Given the description of an element on the screen output the (x, y) to click on. 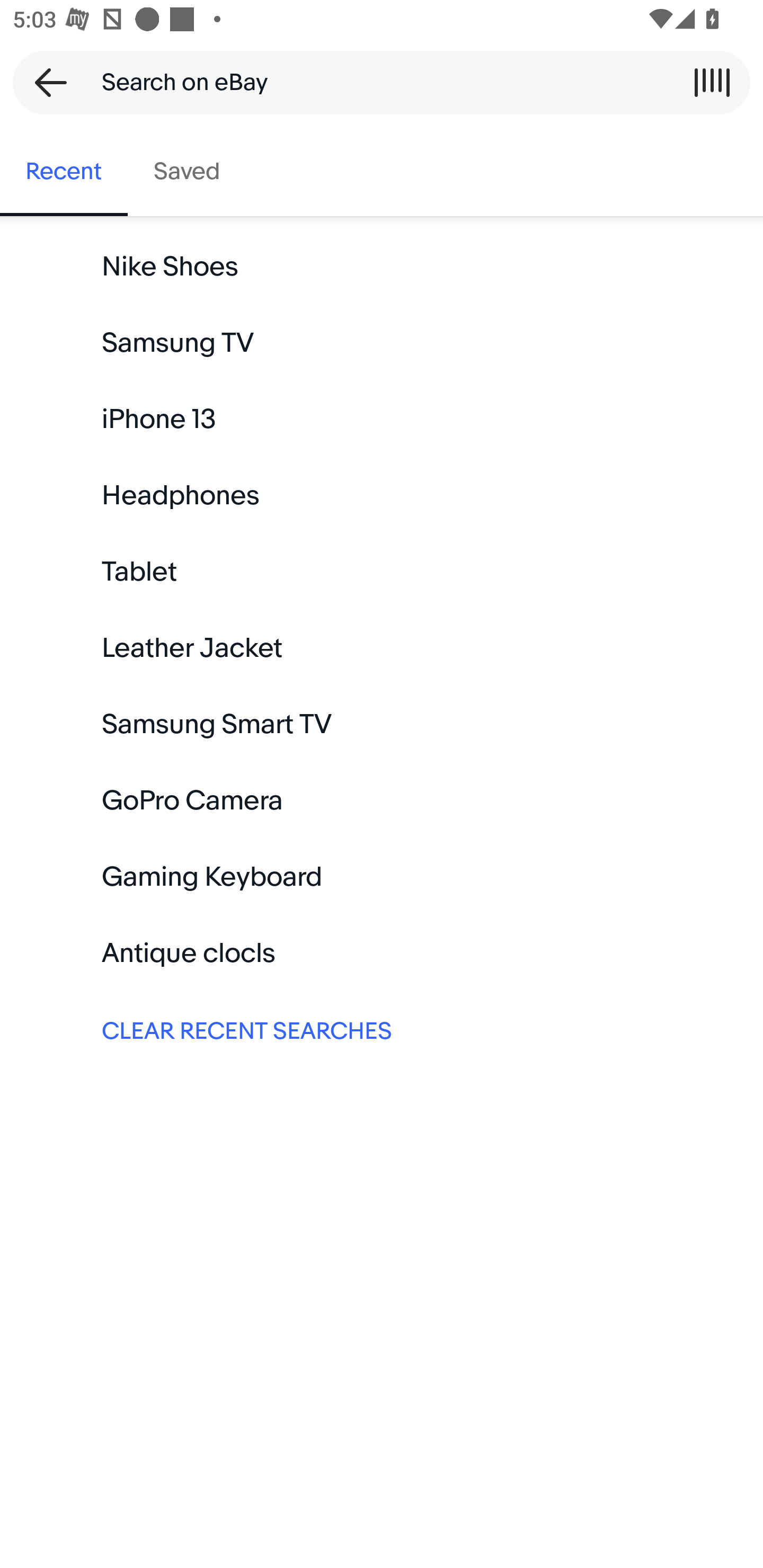
Back (44, 82)
Scan a barcode (711, 82)
Search on eBay (375, 82)
Saved, tab 2 of 2 Saved (186, 171)
Nike Shoes Keyword search Nike Shoes: (381, 266)
Samsung TV Keyword search Samsung TV: (381, 343)
iPhone 13 Keyword search iPhone 13: (381, 419)
Headphones Keyword search Headphones: (381, 495)
Tablet Keyword search Tablet: (381, 571)
Leather Jacket Keyword search Leather Jacket: (381, 647)
Samsung Smart TV Keyword search Samsung Smart TV: (381, 724)
GoPro Camera Keyword search GoPro Camera: (381, 800)
Gaming Keyboard Keyword search Gaming Keyboard: (381, 876)
Antique clocls Keyword search Antique clocls: (381, 952)
CLEAR RECENT SEARCHES (381, 1028)
